Given the description of an element on the screen output the (x, y) to click on. 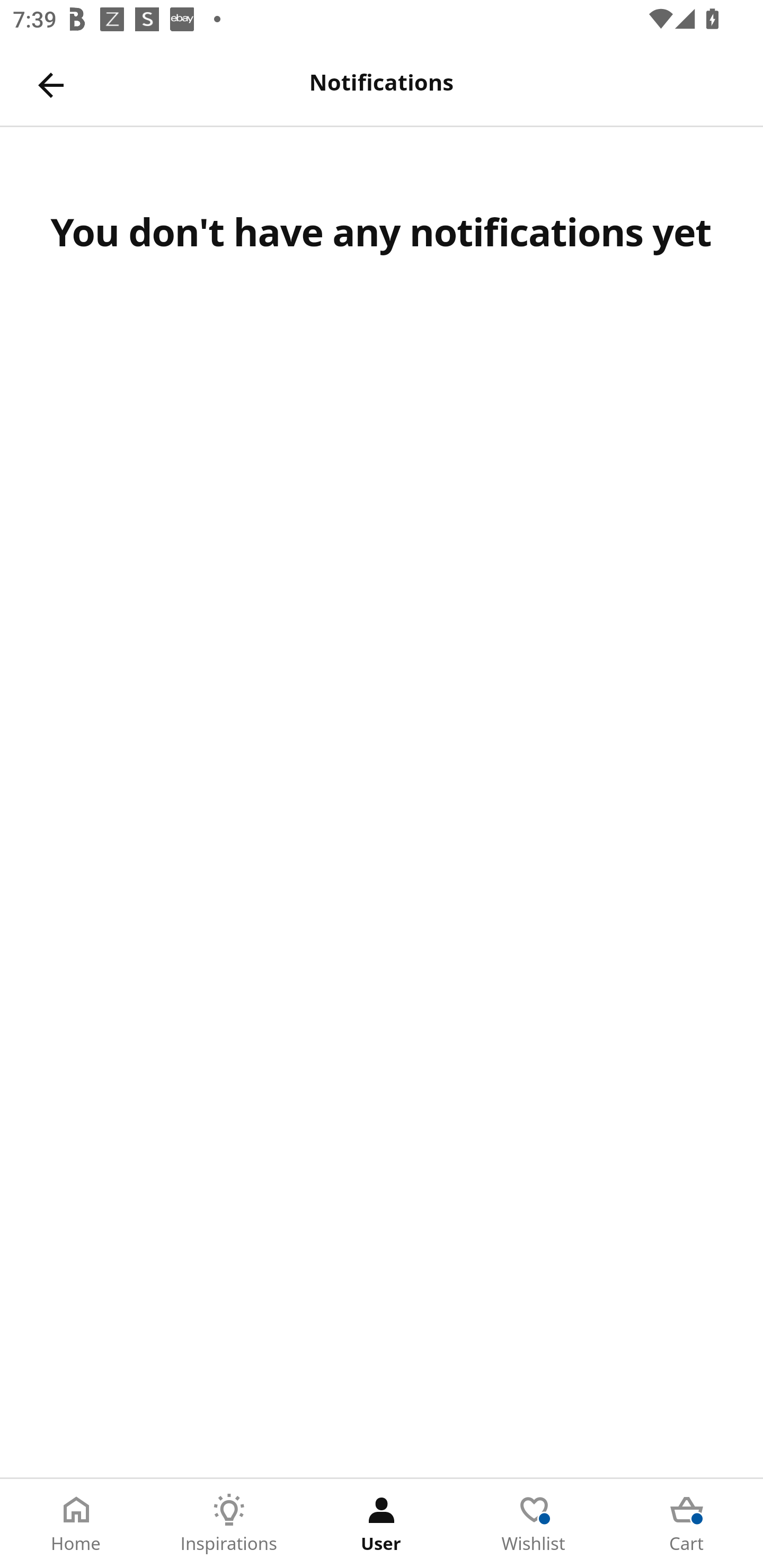
Home
Tab 1 of 5 (76, 1522)
Inspirations
Tab 2 of 5 (228, 1522)
User
Tab 3 of 5 (381, 1522)
Wishlist
Tab 4 of 5 (533, 1522)
Cart
Tab 5 of 5 (686, 1522)
